Given the description of an element on the screen output the (x, y) to click on. 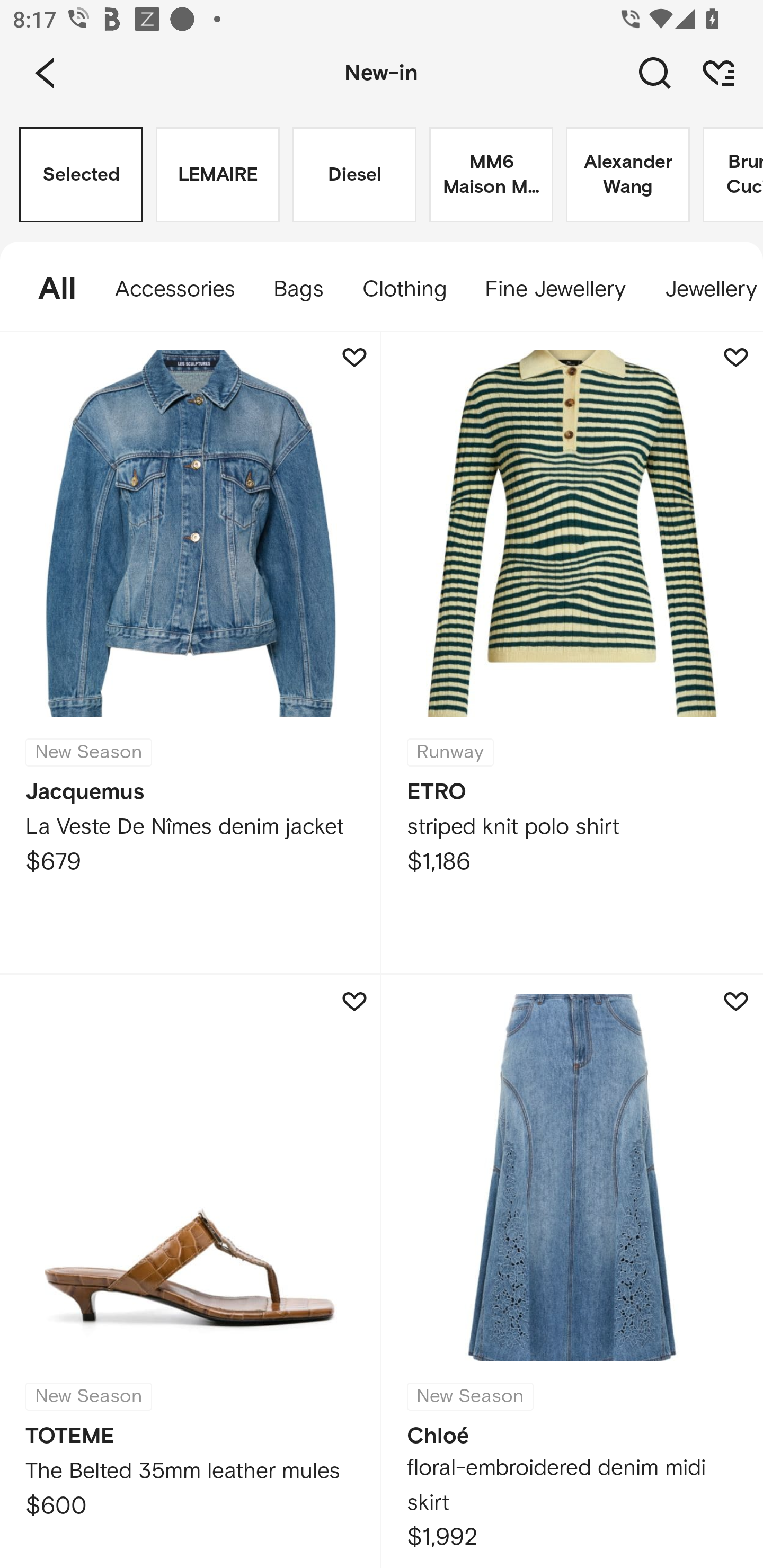
Selected (81, 174)
LEMAIRE (217, 174)
Diesel (354, 174)
MM6 Maison Margiela (490, 174)
Alexander Wang (627, 174)
All (47, 289)
Accessories (174, 289)
Bags (298, 289)
Clothing (403, 289)
Fine Jewellery (555, 289)
Jewellery (704, 289)
Runway ETRO striped knit polo shirt $1,186 (572, 652)
